Given the description of an element on the screen output the (x, y) to click on. 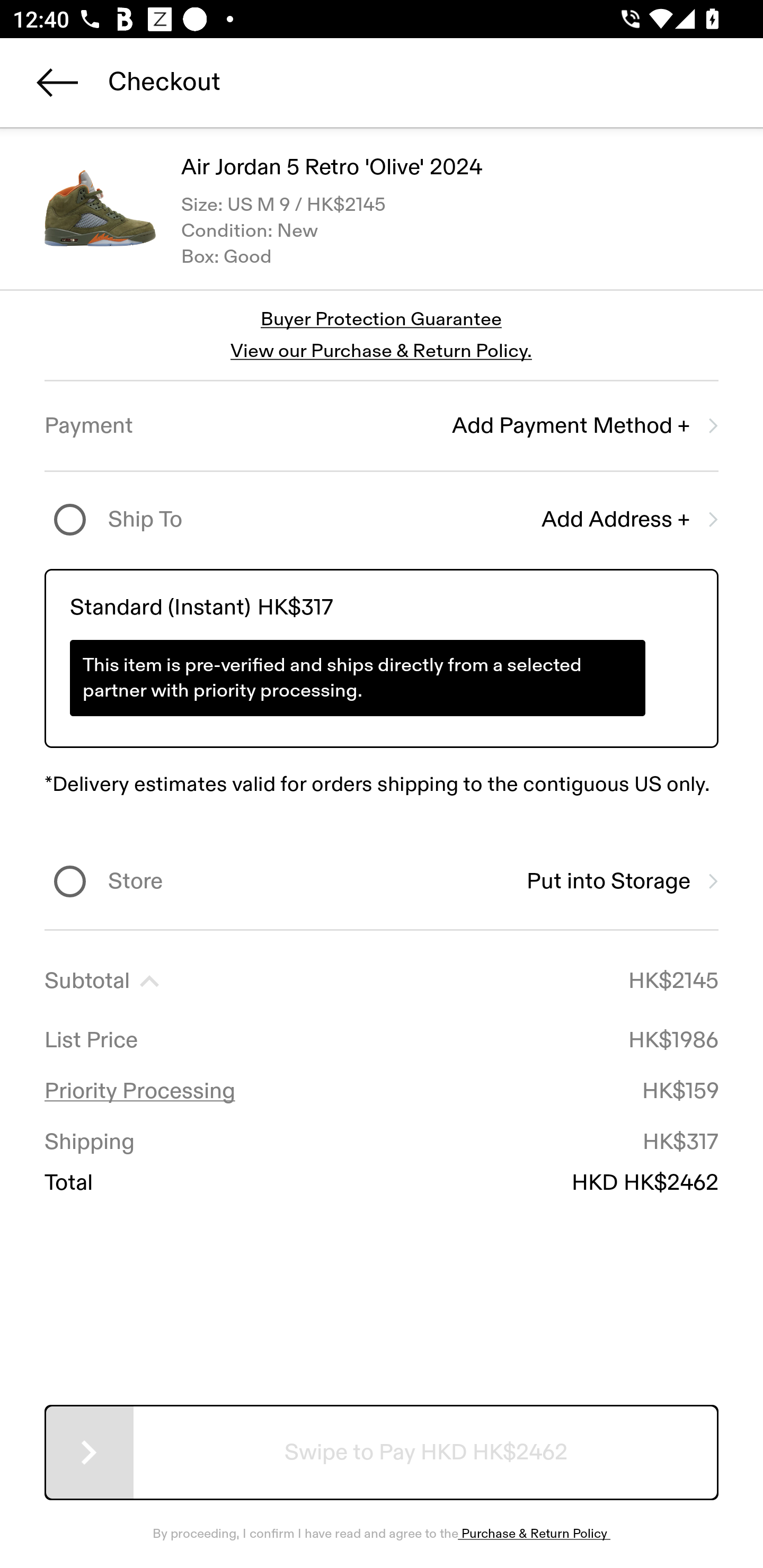
Navigate up (56, 82)
Buyer Protection Guarantee (381, 319)
View our Purchase & Return Policy. (380, 350)
Payment Add Payment Method + (381, 425)
Subtotal HK$2145 (381, 981)
Priority Processing HK$159 (381, 1091)
